Given the description of an element on the screen output the (x, y) to click on. 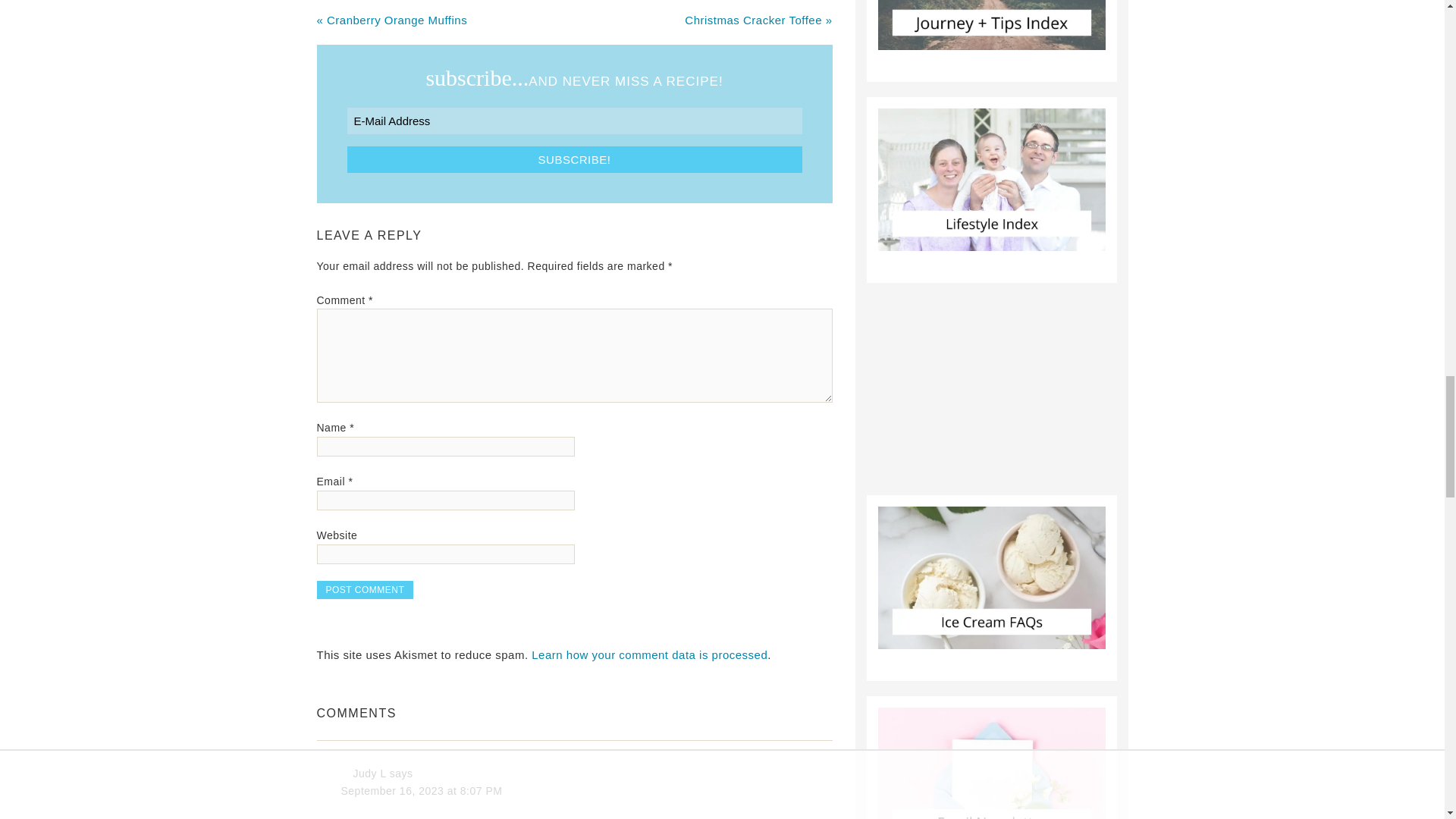
Post Comment (365, 589)
Subscribe! (574, 159)
